Given the description of an element on the screen output the (x, y) to click on. 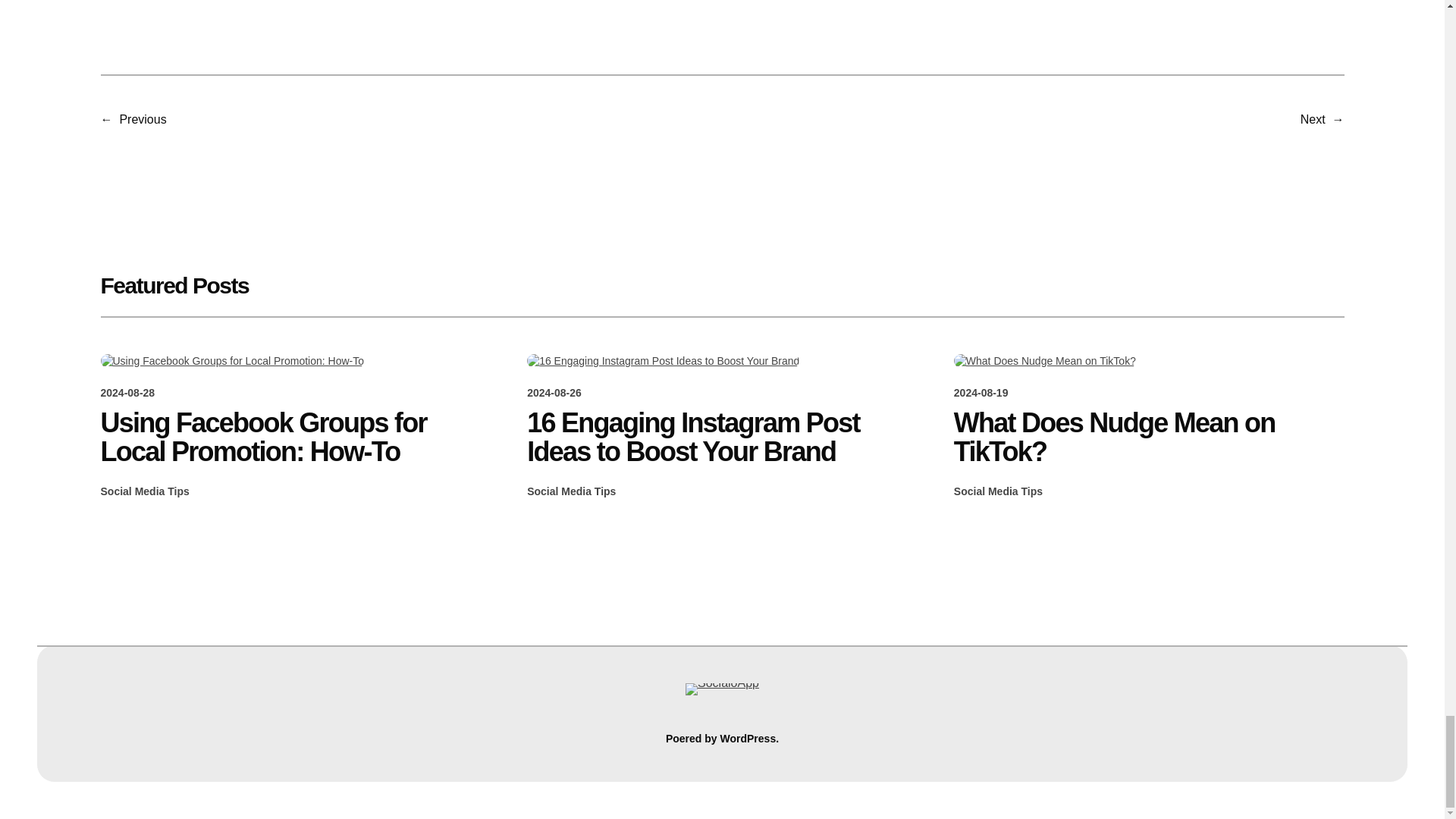
Social Media Tips (997, 490)
What Does Nudge Mean on TikTok? (1148, 437)
Social Media Tips (571, 490)
16 Engaging Instagram Post Ideas to Boost Your Brand (722, 437)
Previous (142, 119)
Using Facebook Groups for Local Promotion: How-To (295, 437)
Social Media Tips (144, 490)
Next (1312, 119)
WordPress (748, 738)
